Given the description of an element on the screen output the (x, y) to click on. 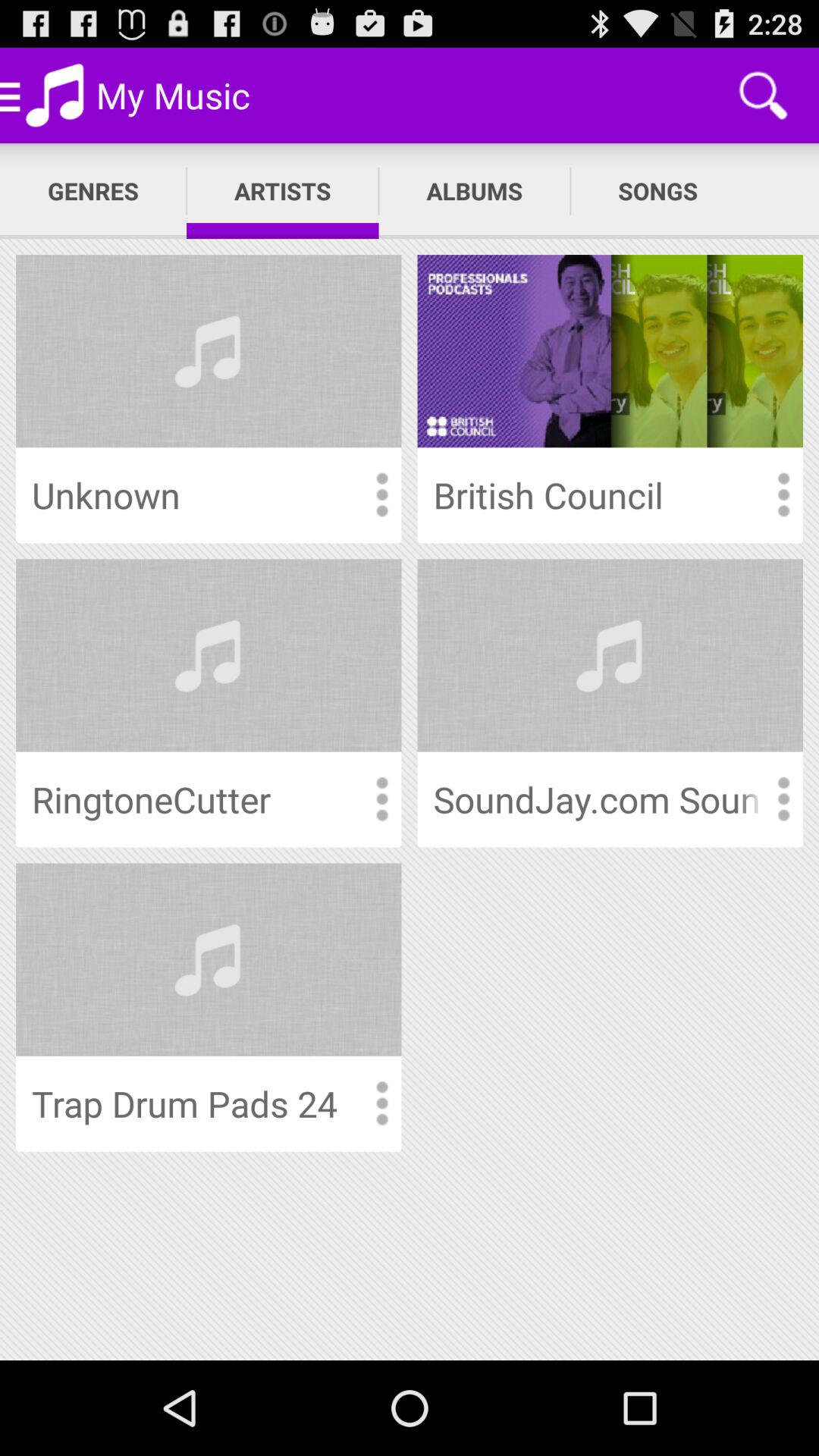
information view option (381, 1103)
